Given the description of an element on the screen output the (x, y) to click on. 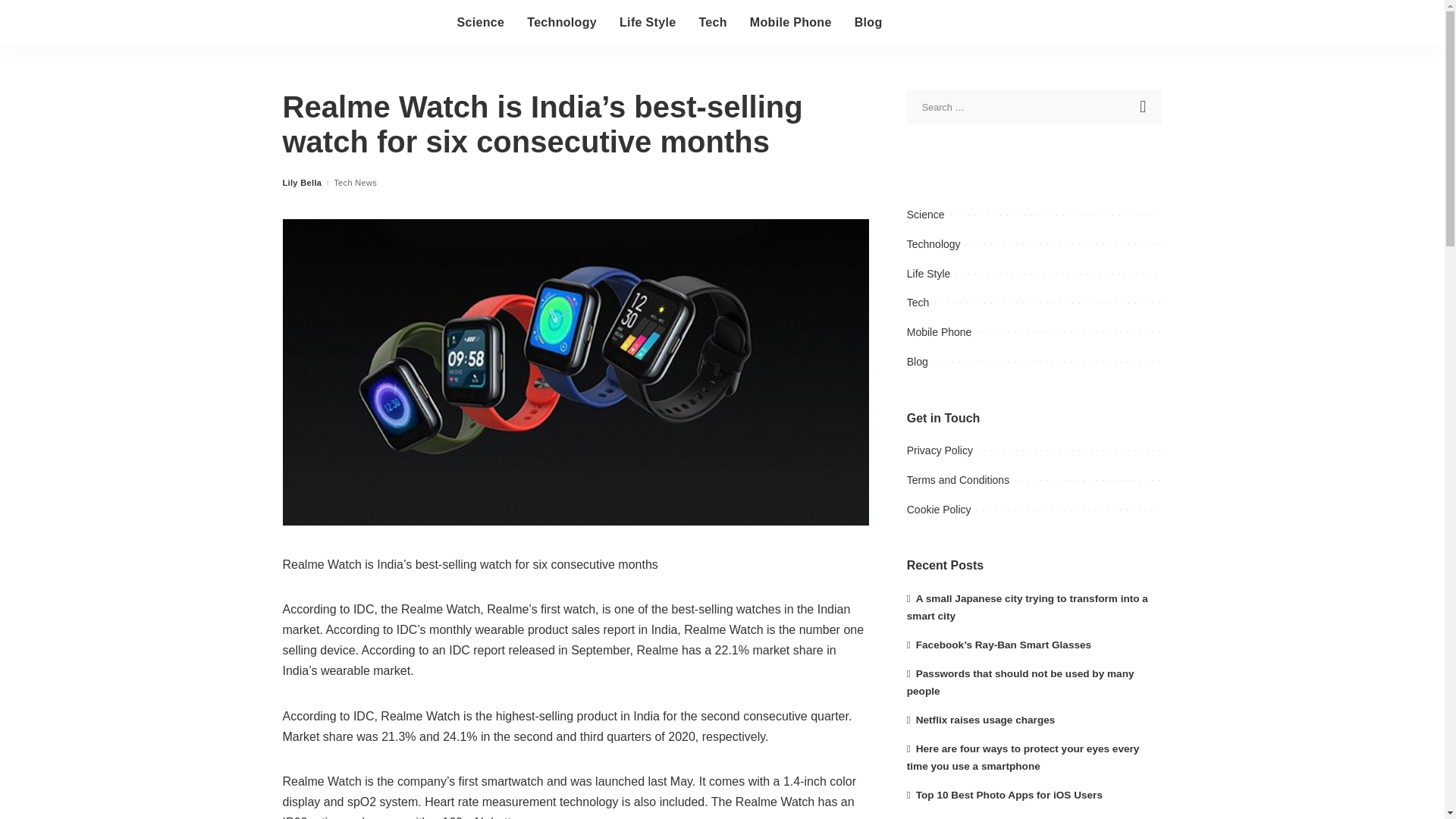
Tech (712, 22)
Search (1143, 106)
Tech News (355, 183)
Blog (868, 22)
Blog (917, 361)
Mobile Phone (939, 331)
Life Style (928, 273)
A small Japanese city trying to transform into a smart city (1027, 606)
Science (480, 22)
Mobile Phone (790, 22)
Life Style (647, 22)
Passwords that should not be used by many people (1020, 682)
Technology (933, 244)
Netflix raises usage charges (981, 719)
